Given the description of an element on the screen output the (x, y) to click on. 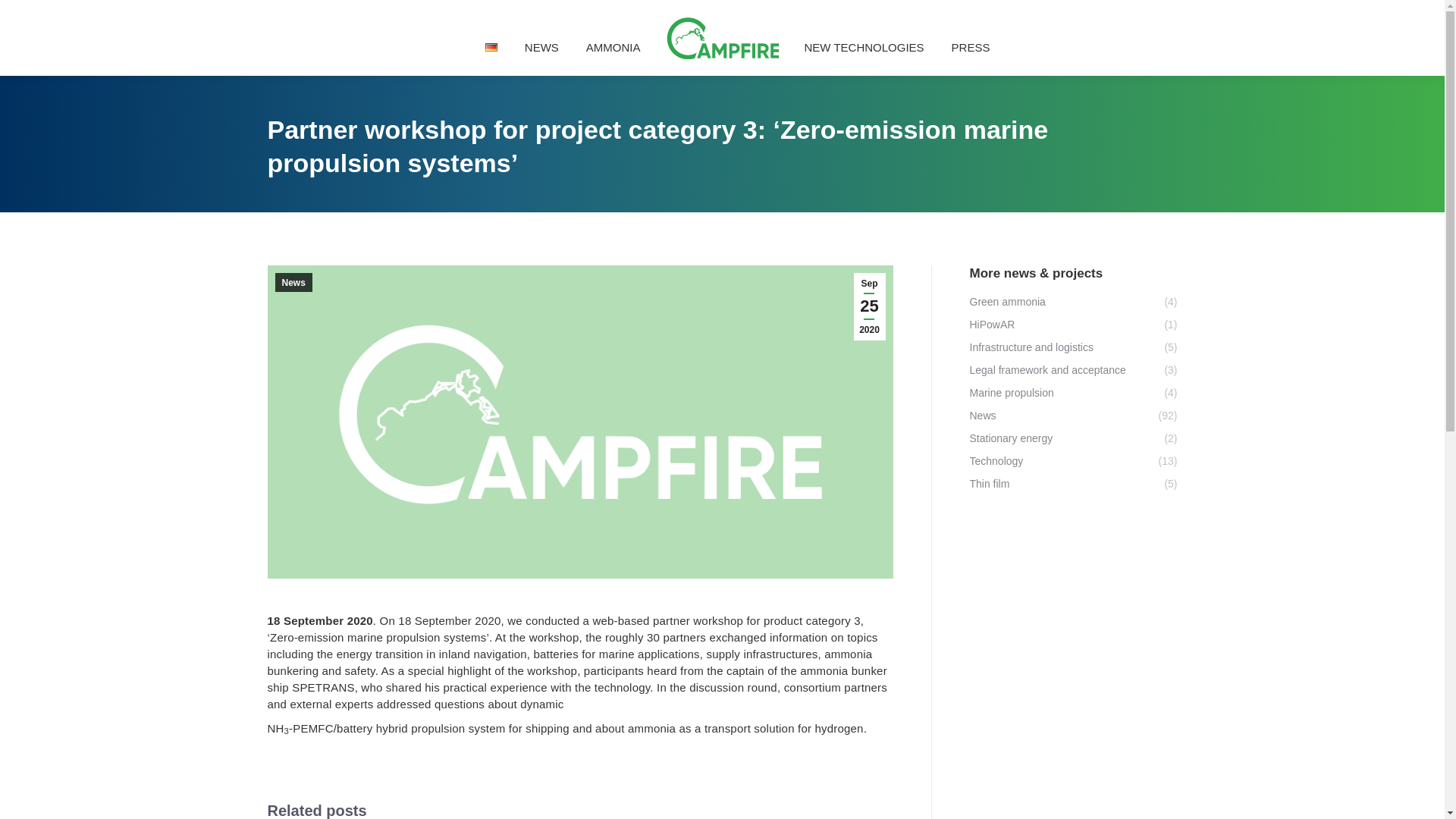
News (293, 281)
AMMONIA (613, 47)
NEW TECHNOLOGIES (863, 47)
